Given the description of an element on the screen output the (x, y) to click on. 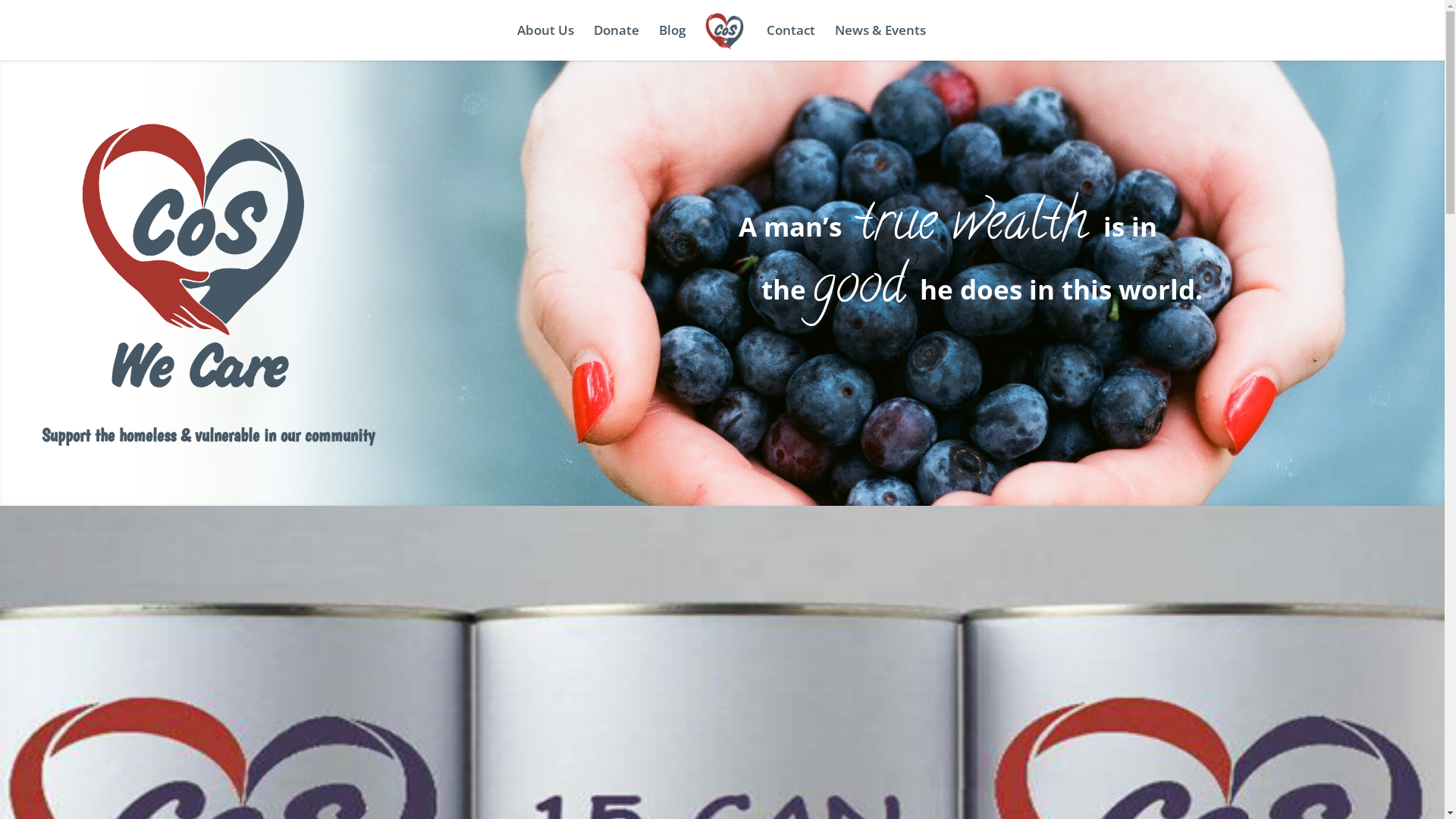
About Us Element type: text (545, 42)
Donate Element type: text (616, 42)
Blog Element type: text (671, 42)
Contact Element type: text (790, 42)
News & Events Element type: text (879, 42)
